Given the description of an element on the screen output the (x, y) to click on. 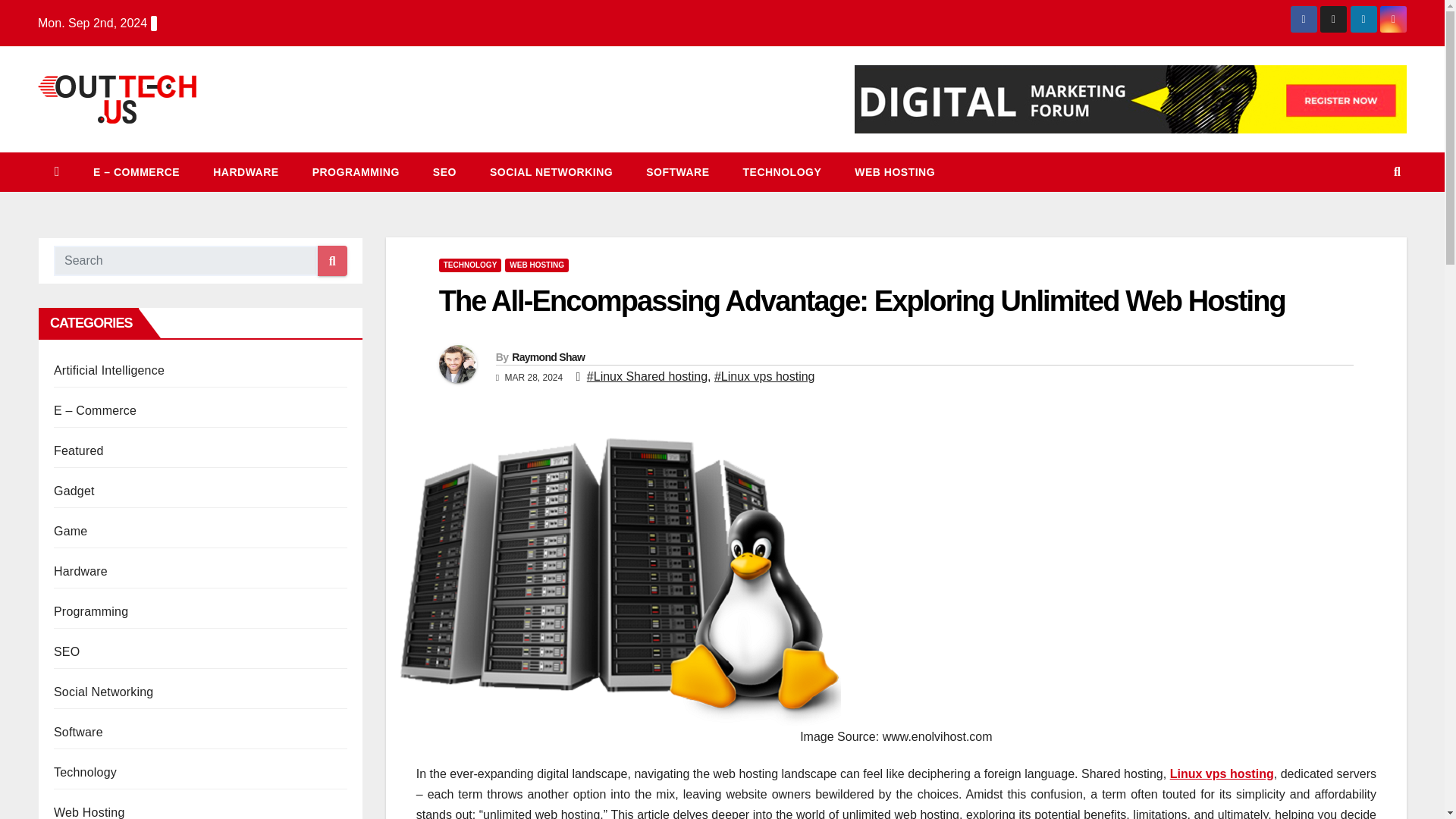
Social Networking (102, 691)
Web Hosting (89, 812)
SOCIAL NETWORKING (550, 171)
Gadget (73, 490)
HARDWARE (245, 171)
SEO (444, 171)
Featured (78, 450)
Software (676, 171)
Hardware (245, 171)
E - Commerce (136, 171)
